Given the description of an element on the screen output the (x, y) to click on. 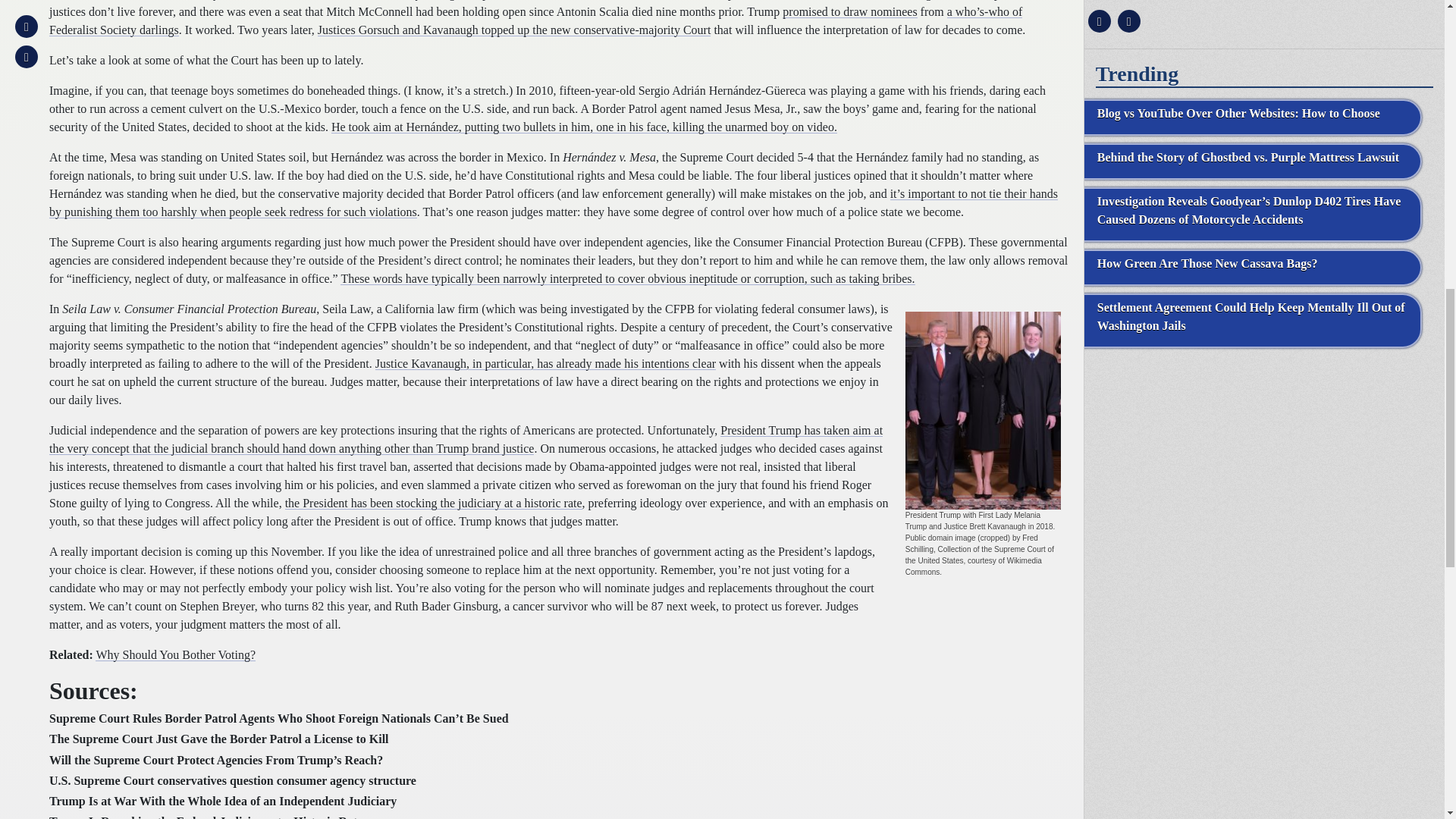
Why Should You Bother Voting? (176, 654)
promised to draw nominees (850, 11)
Trump Is Remaking the Federal Judiciary at a Historic Rate (205, 816)
